Given the description of an element on the screen output the (x, y) to click on. 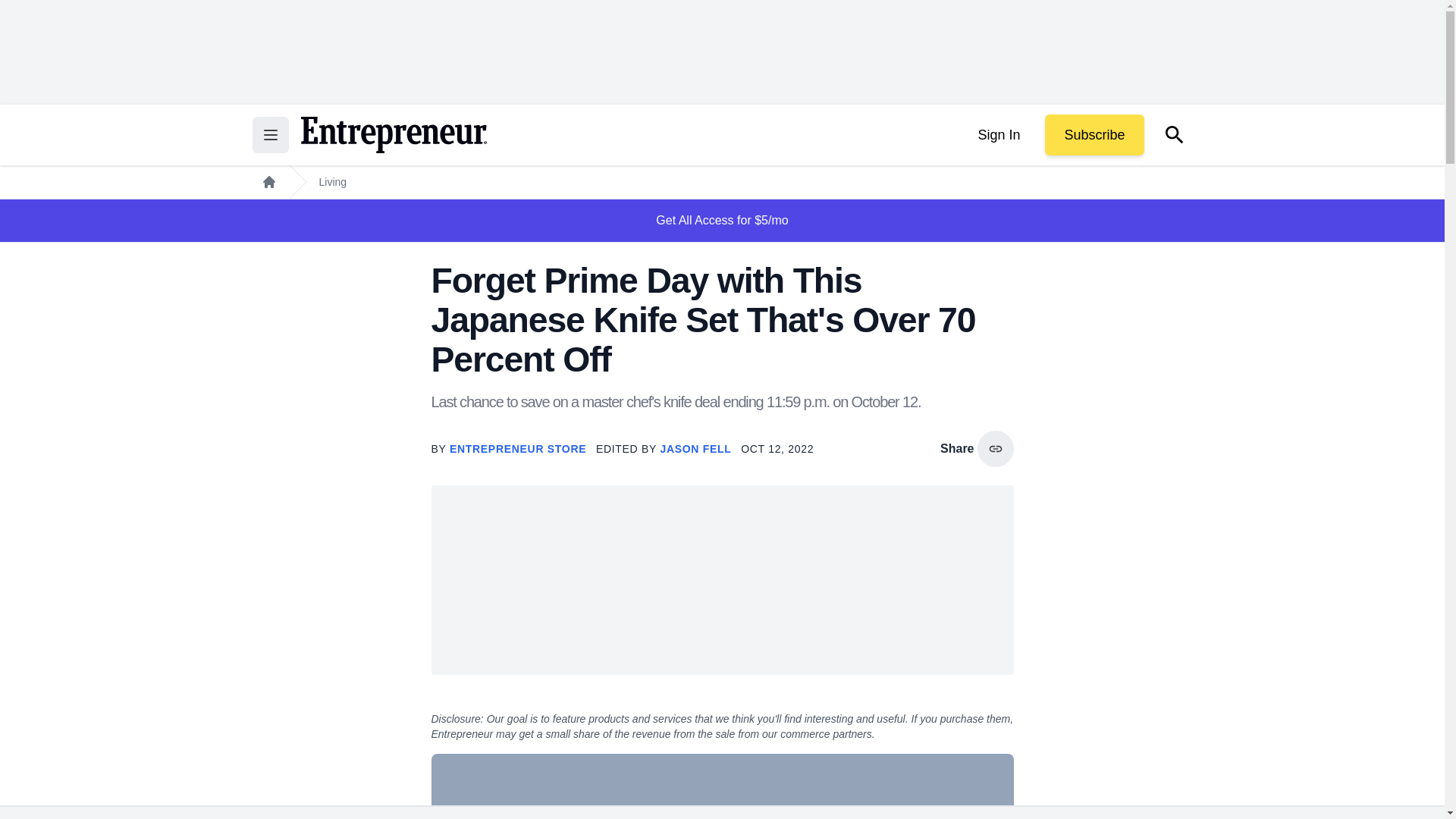
copy (994, 448)
Sign In (998, 134)
Subscribe (1093, 134)
Return to the home page (392, 135)
